Given the description of an element on the screen output the (x, y) to click on. 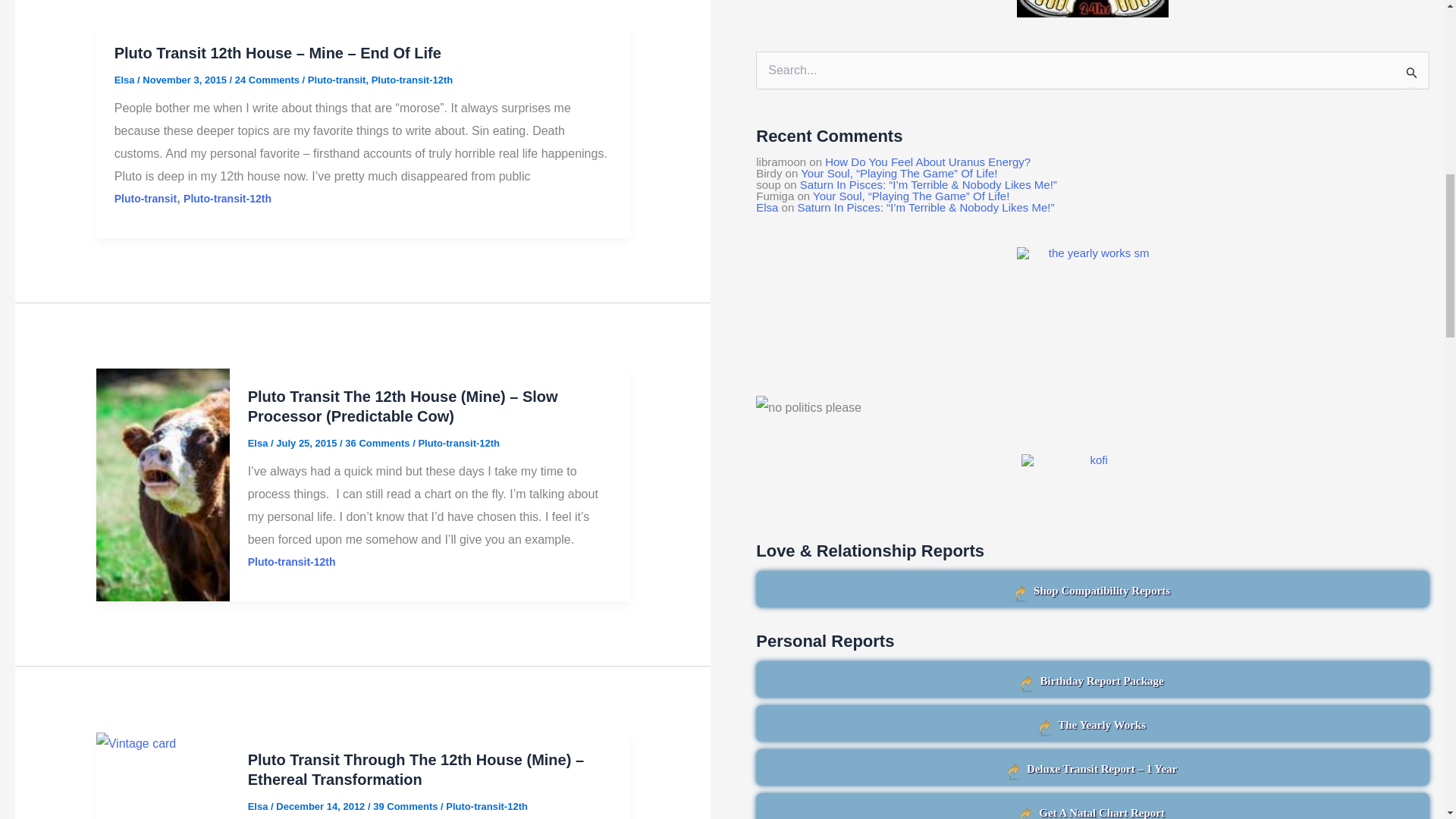
View all posts by Elsa (258, 442)
Search (1411, 72)
View all posts by Elsa (258, 806)
Search (1411, 72)
View all posts by Elsa (125, 79)
